Given the description of an element on the screen output the (x, y) to click on. 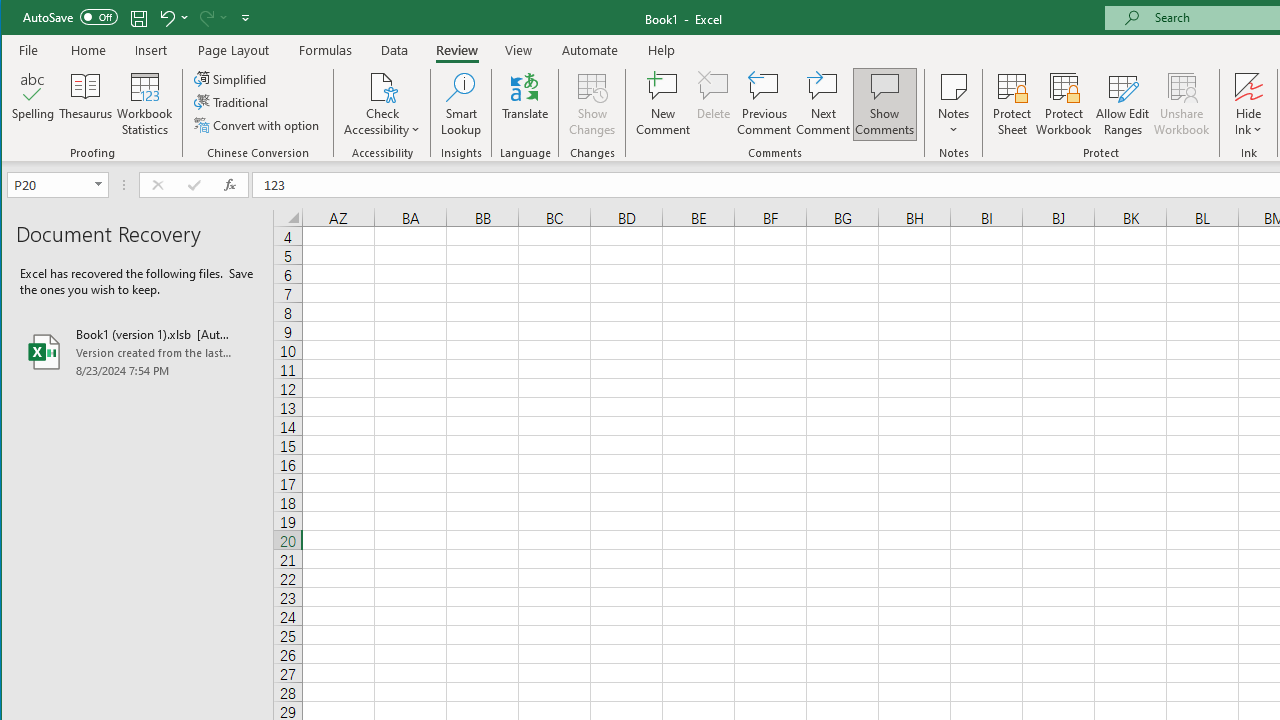
Check Accessibility (381, 104)
Hide Ink (1248, 104)
Allow Edit Ranges (1123, 104)
Spelling... (33, 104)
